Given the description of an element on the screen output the (x, y) to click on. 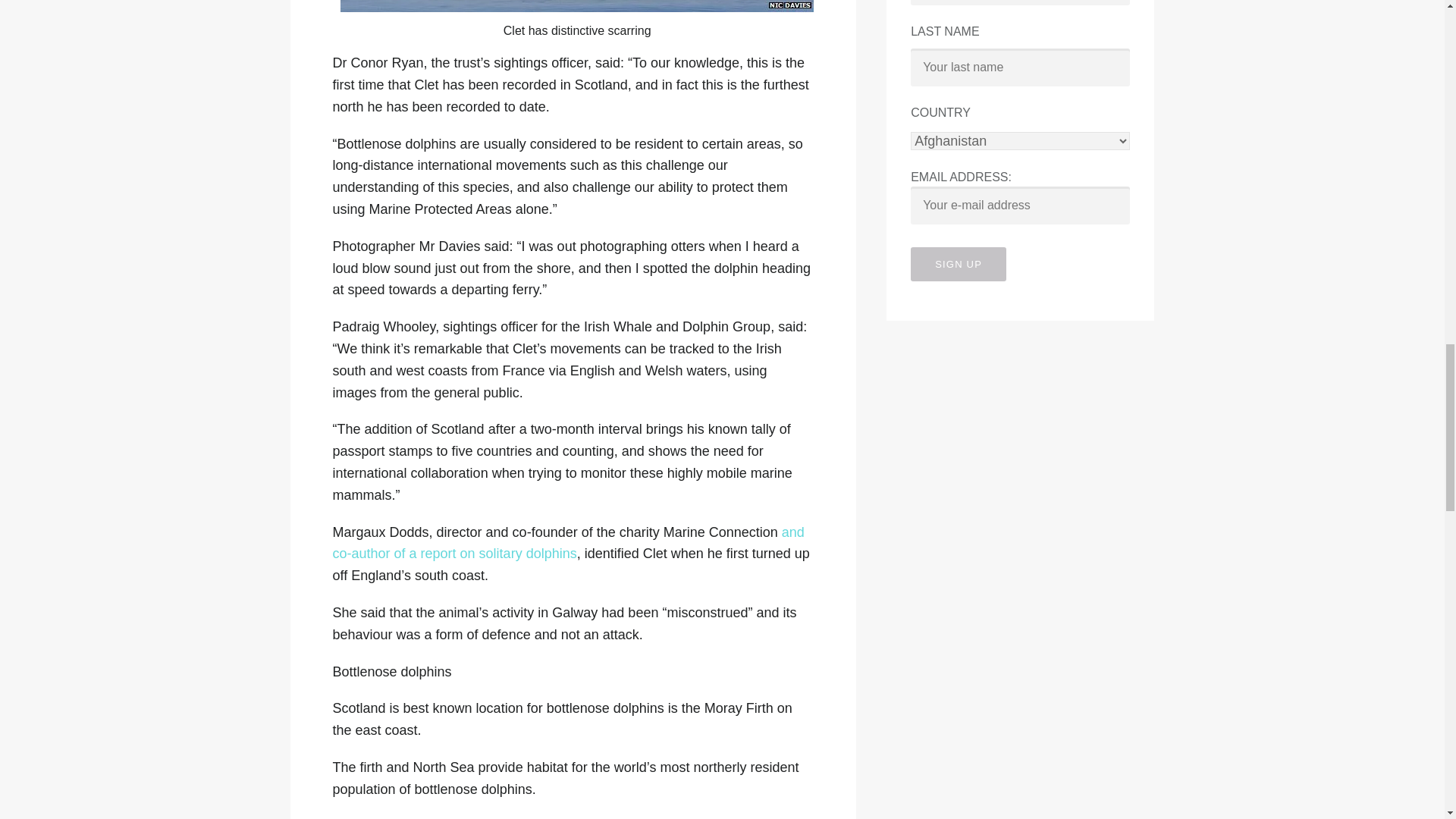
Link to Lone Rangers report (567, 542)
Sign up (958, 264)
